Given the description of an element on the screen output the (x, y) to click on. 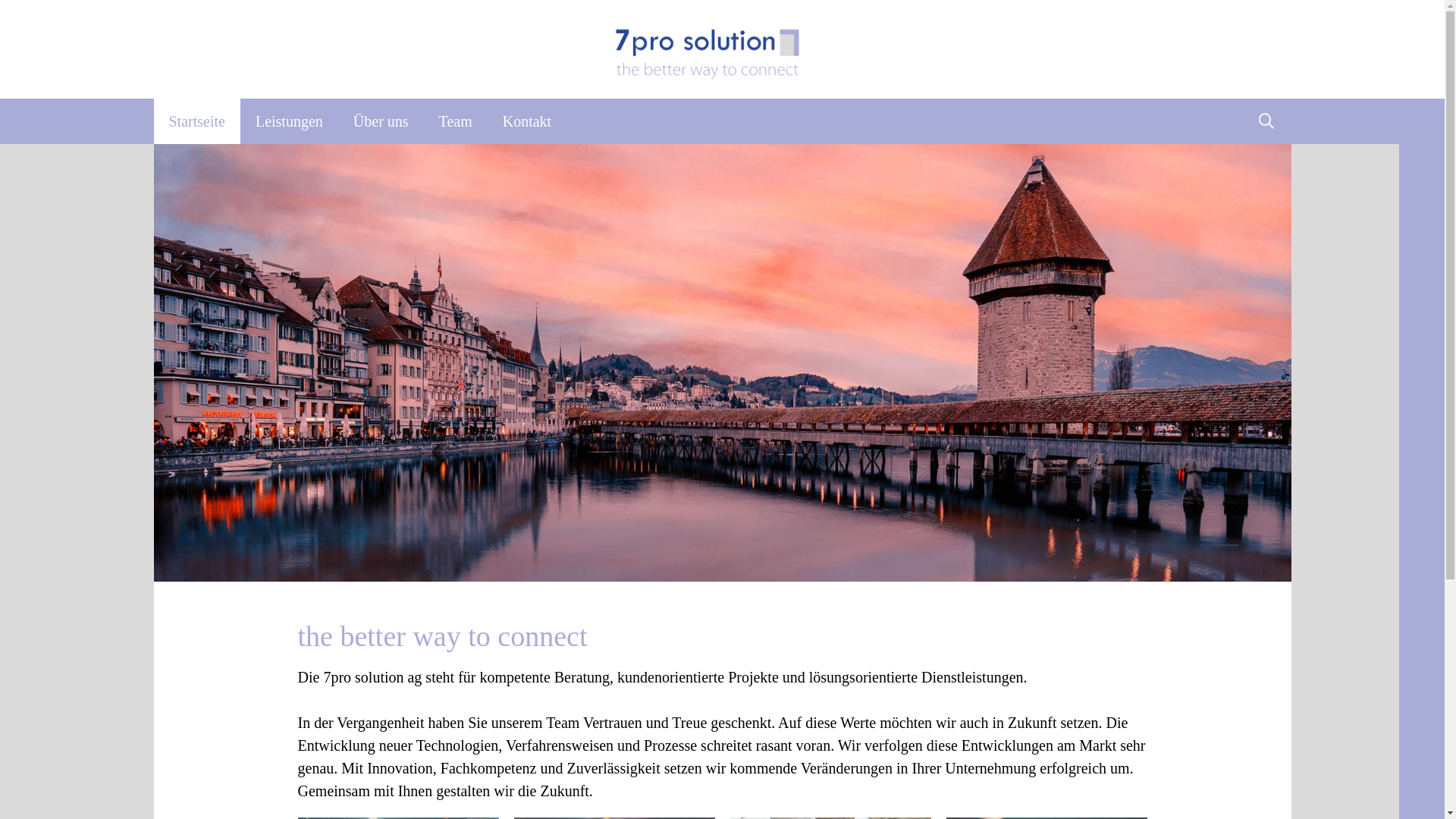
Team Element type: text (455, 121)
Startseite Element type: text (196, 121)
Leistungen Element type: text (289, 121)
Kontakt Element type: text (526, 121)
